Given the description of an element on the screen output the (x, y) to click on. 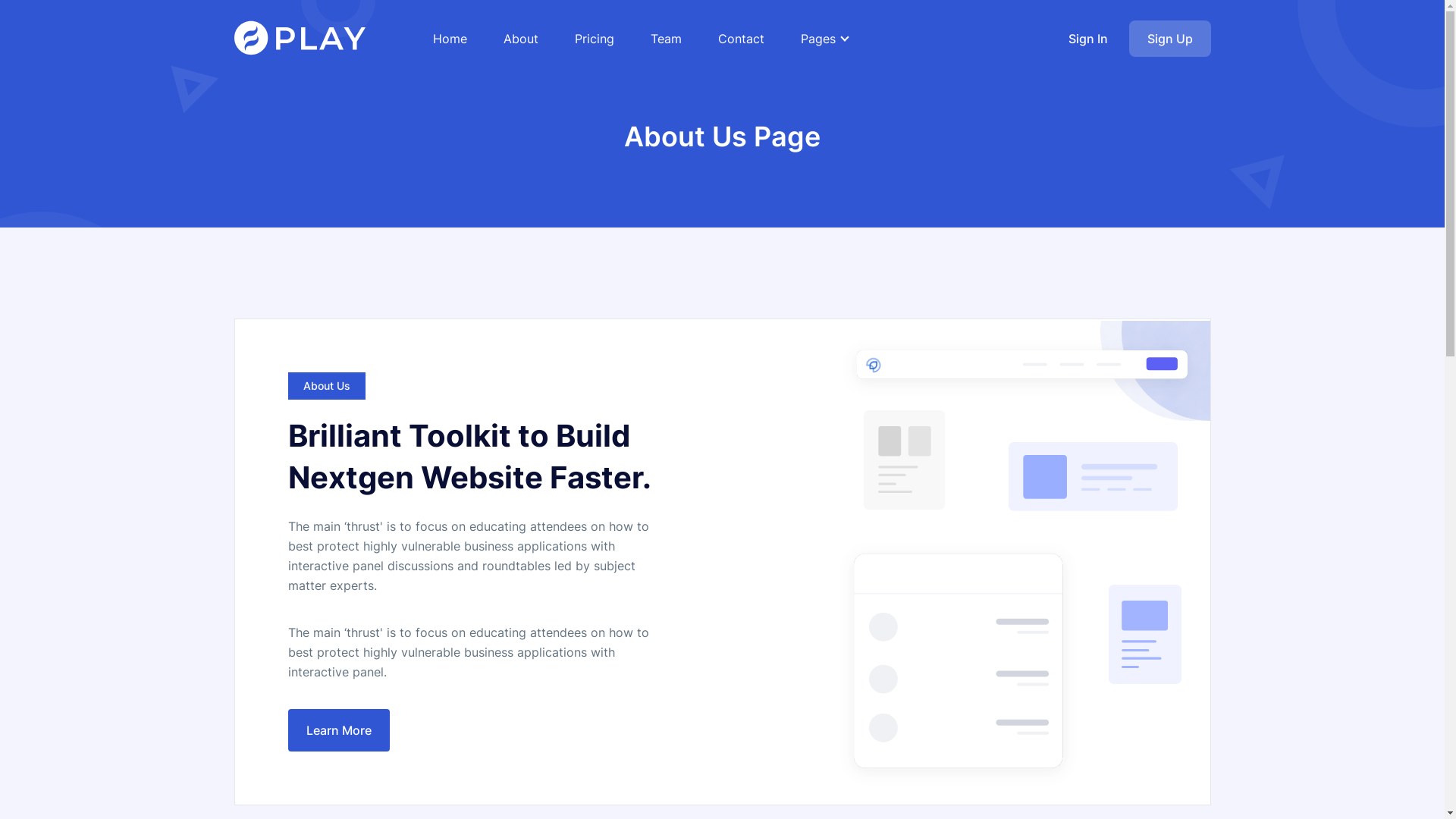
Sign In Element type: text (1087, 38)
Sign Up Element type: text (1169, 38)
Learn More Element type: text (338, 730)
Pages Element type: text (823, 38)
Home Element type: text (450, 38)
Pricing Element type: text (594, 38)
About Element type: text (520, 38)
Contact Element type: text (741, 38)
Team Element type: text (665, 38)
